Given the description of an element on the screen output the (x, y) to click on. 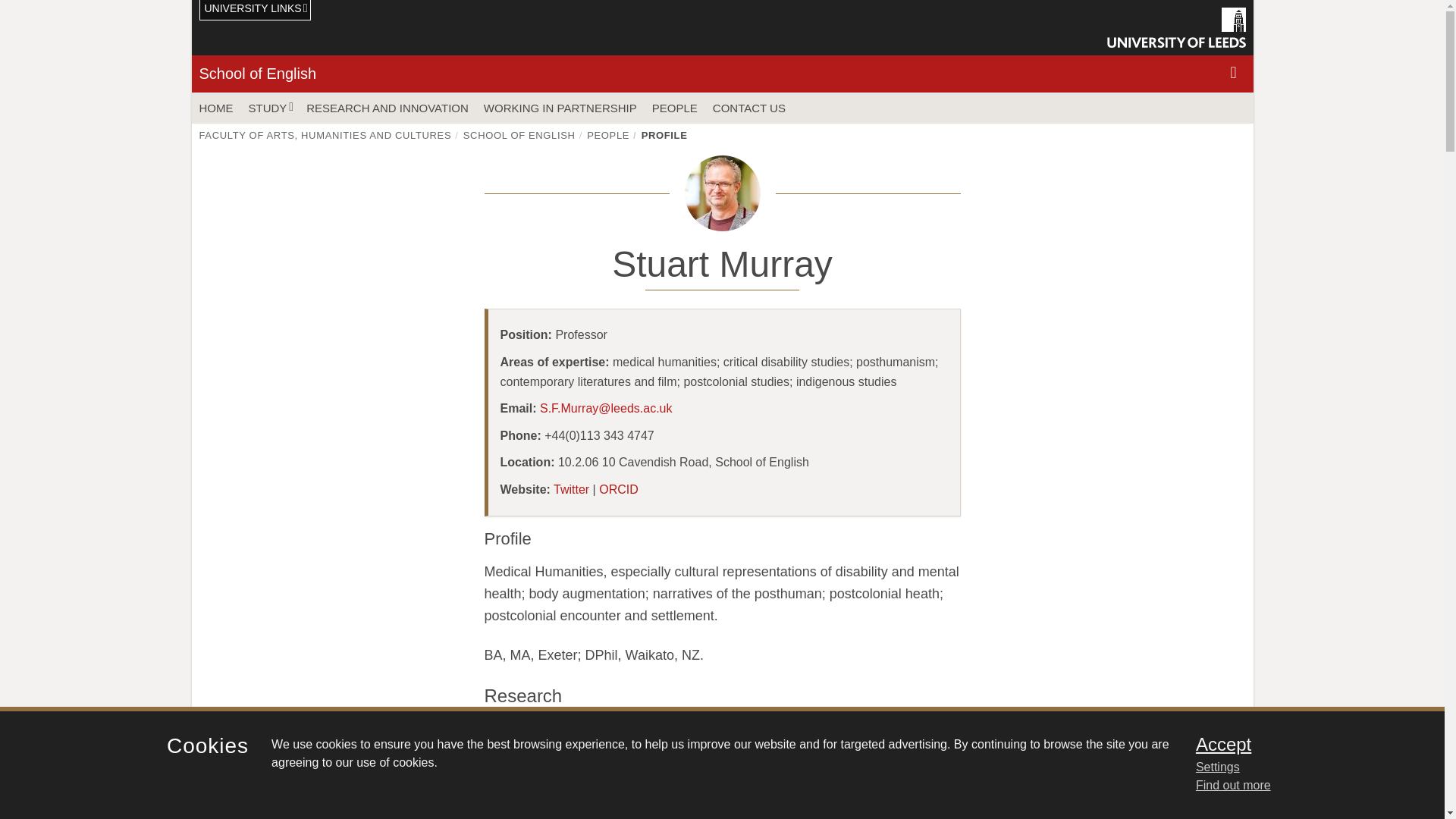
Find out more (1233, 784)
Accept (1300, 744)
University of Leeds homepage (1176, 27)
UNIVERSITY LINKS (254, 10)
Settings (1300, 767)
Leeds Centre for Medical Humanities (699, 814)
